Given the description of an element on the screen output the (x, y) to click on. 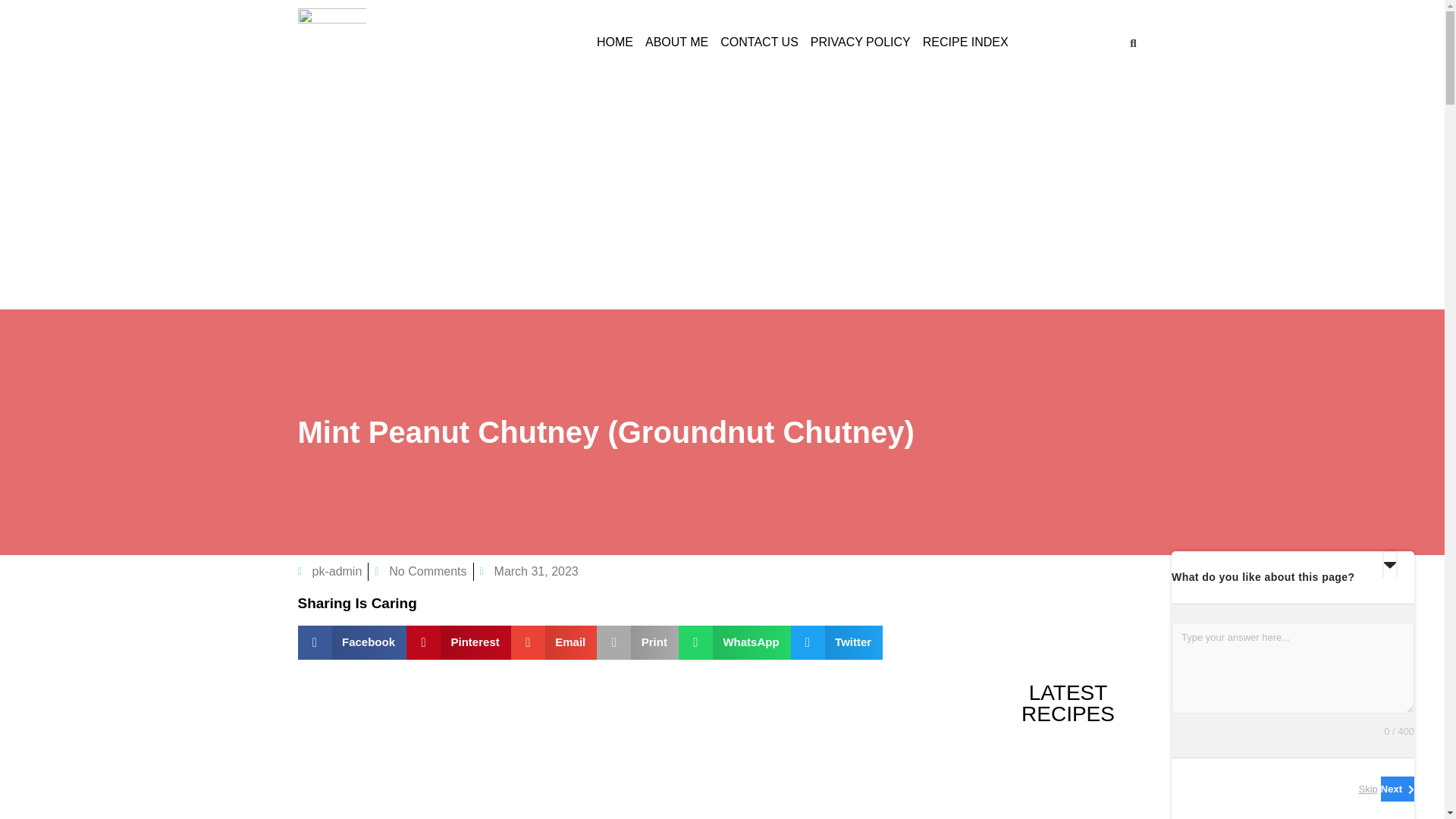
CONTACT US (759, 42)
No Comments (419, 571)
HOME (615, 42)
pk-admin (329, 571)
Search (1128, 42)
ABOUT ME (676, 42)
PRIVACY POLICY (861, 42)
RECIPE INDEX (965, 42)
